Given the description of an element on the screen output the (x, y) to click on. 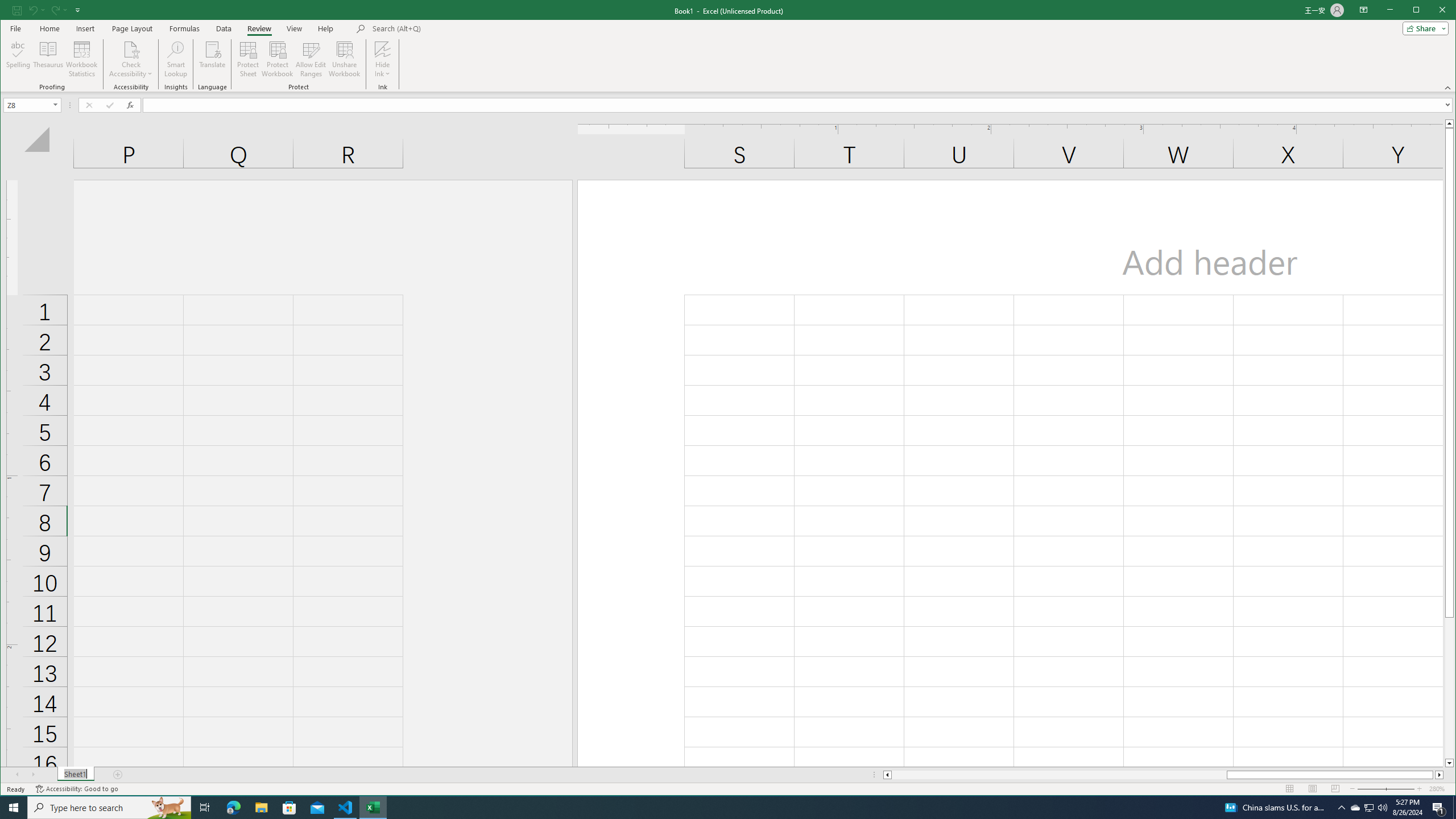
Visual Studio Code - 1 running window (345, 807)
Q2790: 100% (1382, 807)
Running applications (717, 807)
Excel - 1 running window (373, 807)
File Explorer (261, 807)
Smart Lookup (176, 59)
Protect Sheet... (247, 59)
